Given the description of an element on the screen output the (x, y) to click on. 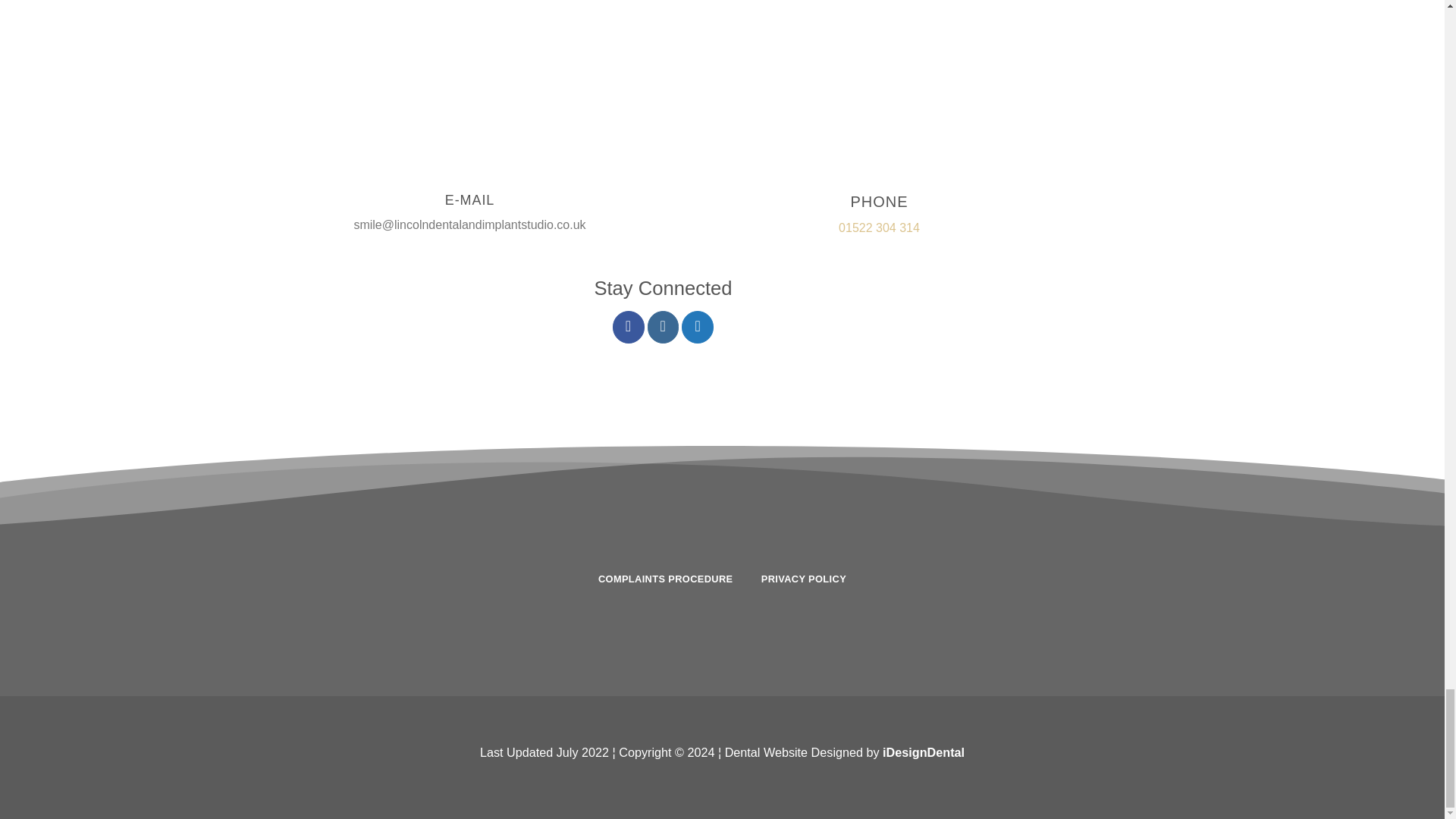
Follow on Instagram (663, 327)
Follow on Twitter (697, 327)
Follow on Facebook (628, 327)
